Given the description of an element on the screen output the (x, y) to click on. 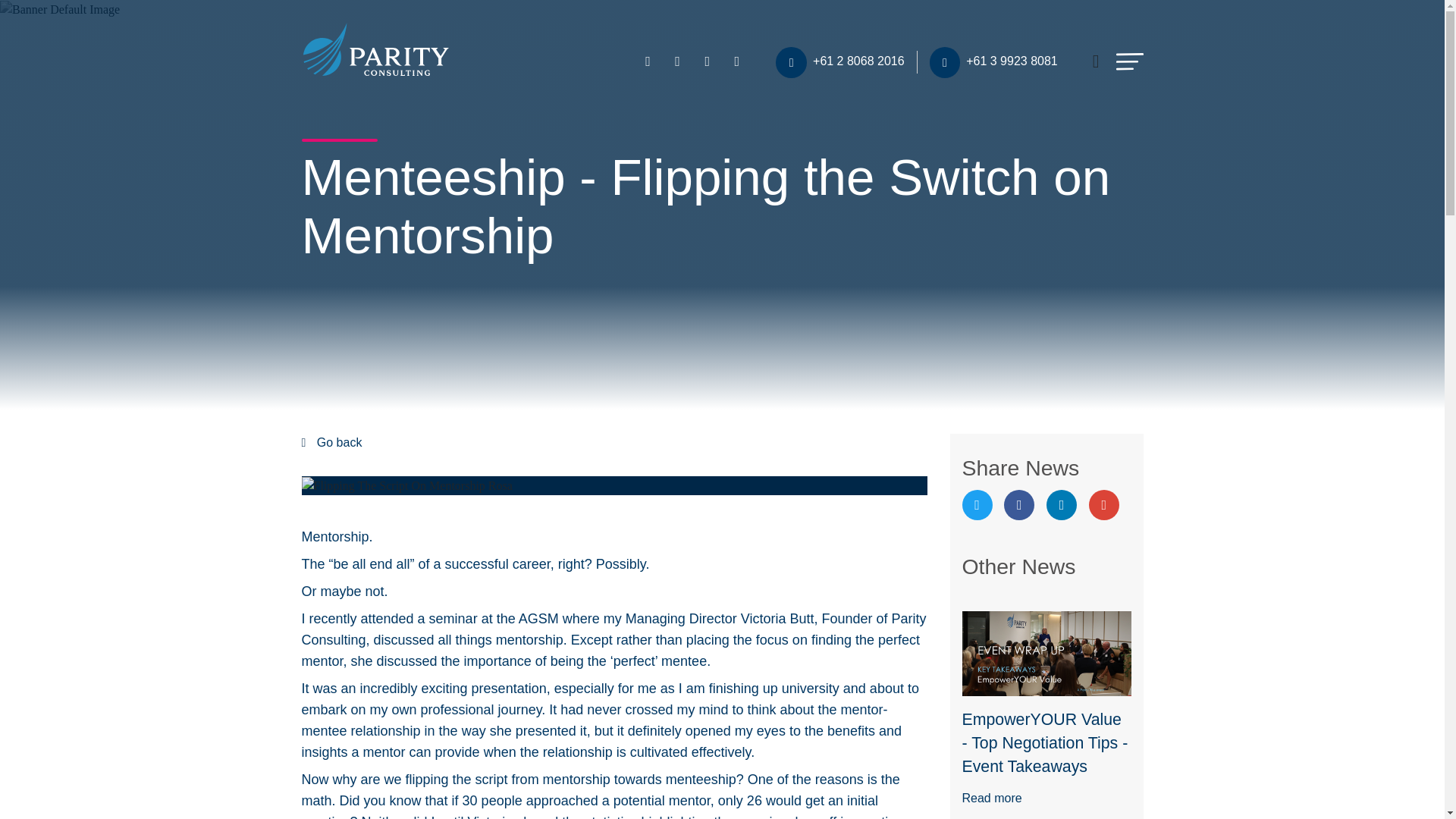
Menu Created with Sketch. (1129, 61)
Victoria Butt (777, 618)
Menu Created with Sketch. (1129, 60)
share on Facebook (1018, 504)
Email (1104, 504)
Go to the Homepage (375, 48)
AGSM (538, 618)
Go back (339, 441)
Tweet this (975, 504)
share on LinkedIn (1061, 504)
Parity Consulting (613, 628)
